Given the description of an element on the screen output the (x, y) to click on. 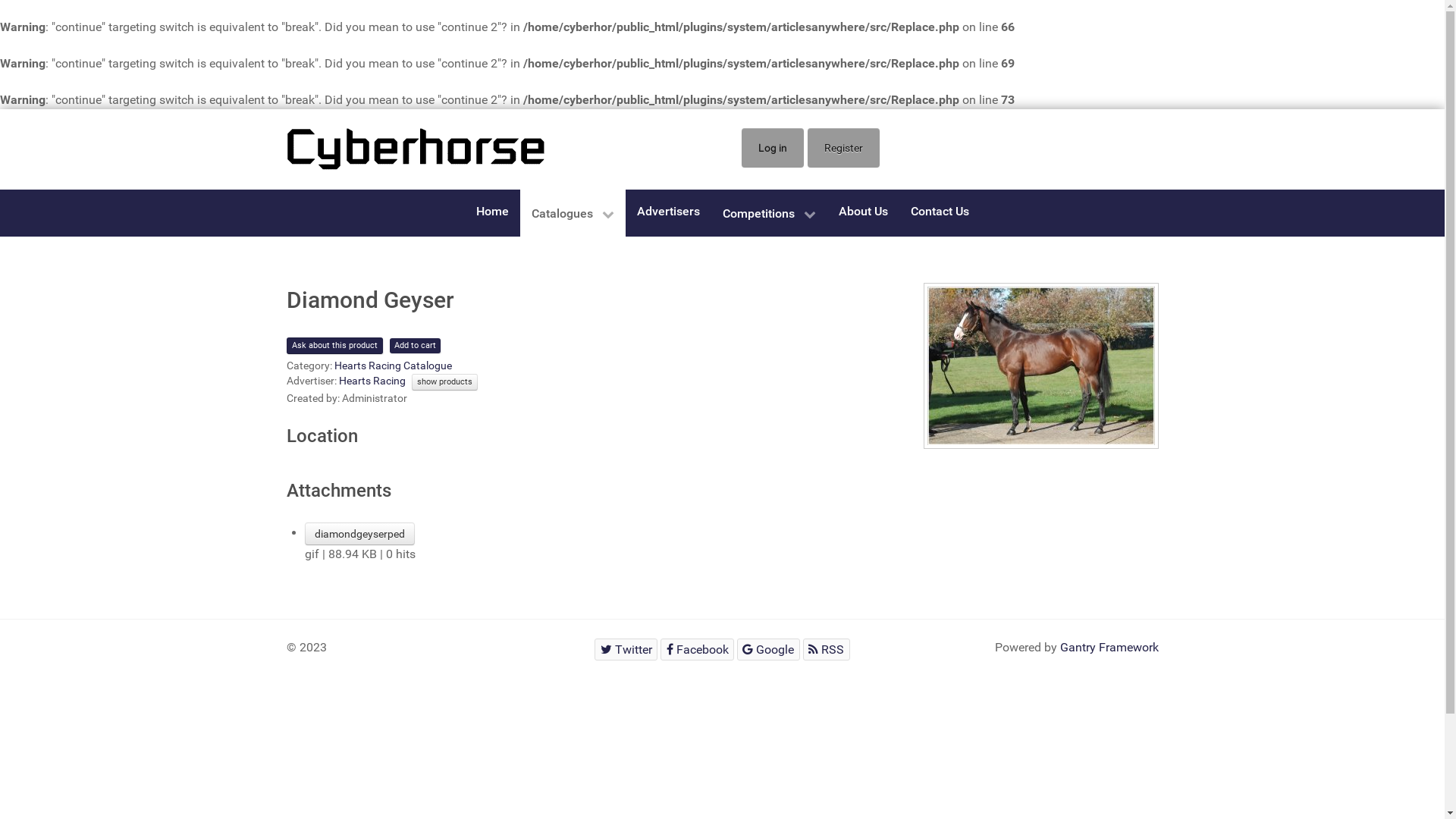
Hearts Racing Catalogue Element type: text (392, 365)
Google Element type: text (768, 649)
Home Element type: text (491, 210)
Gantry 5 Element type: hover (415, 148)
Ask about this product Element type: text (334, 345)
show products Element type: text (443, 381)
Log in Element type: text (772, 147)
Twitter Element type: text (625, 649)
Hearts Racing Element type: text (371, 380)
Facebook Element type: text (697, 649)
Add to cart Element type: text (414, 345)
Diamond Geyser Element type: hover (1040, 365)
Register Element type: text (842, 147)
RSS Element type: text (826, 649)
Gantry Framework Element type: text (1109, 647)
Advertisers Element type: text (667, 210)
Contact Us Element type: text (939, 210)
diamondgeyserped Element type: text (359, 533)
